Given the description of an element on the screen output the (x, y) to click on. 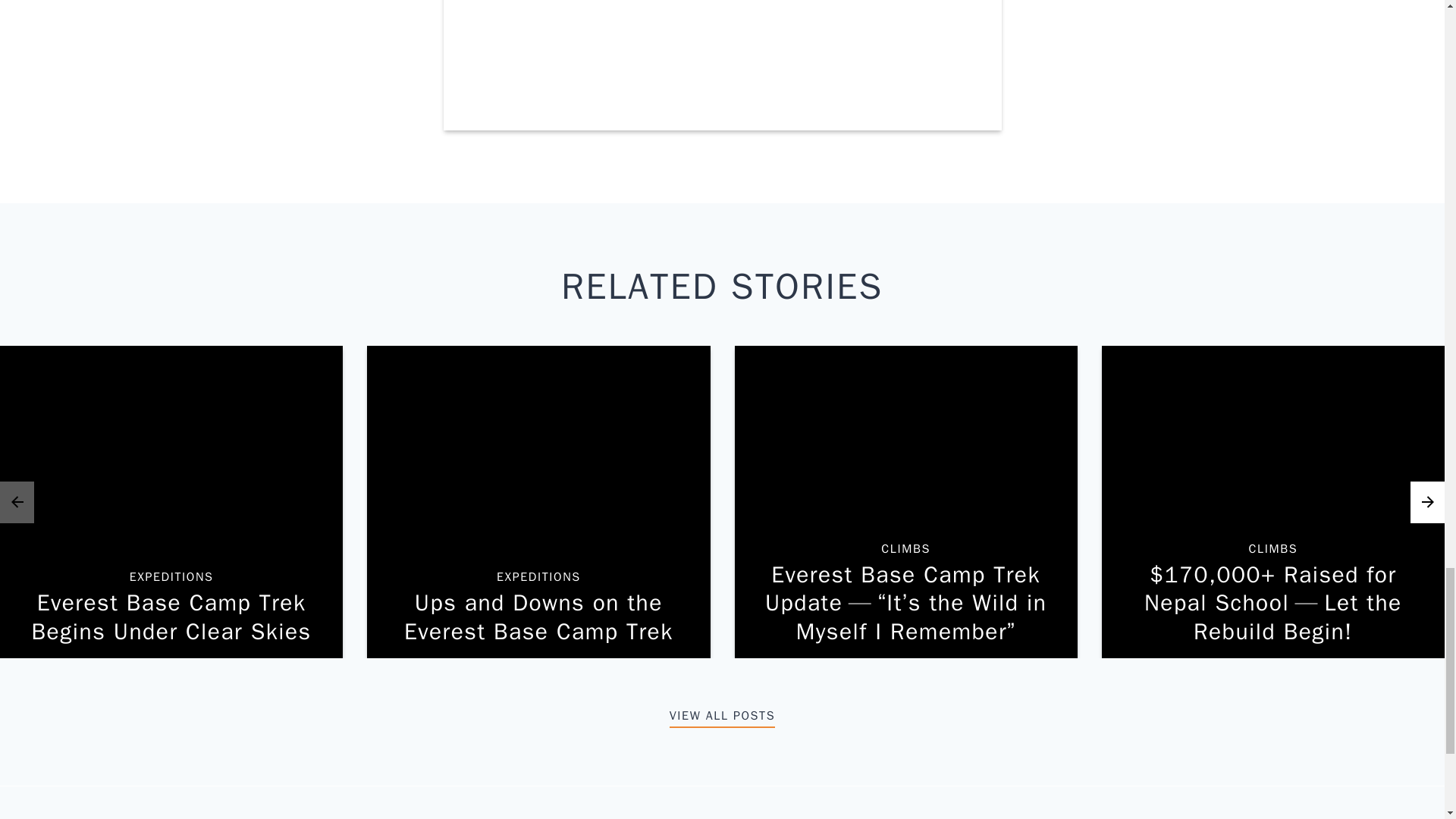
VIEW ALL POSTS (721, 715)
